Given the description of an element on the screen output the (x, y) to click on. 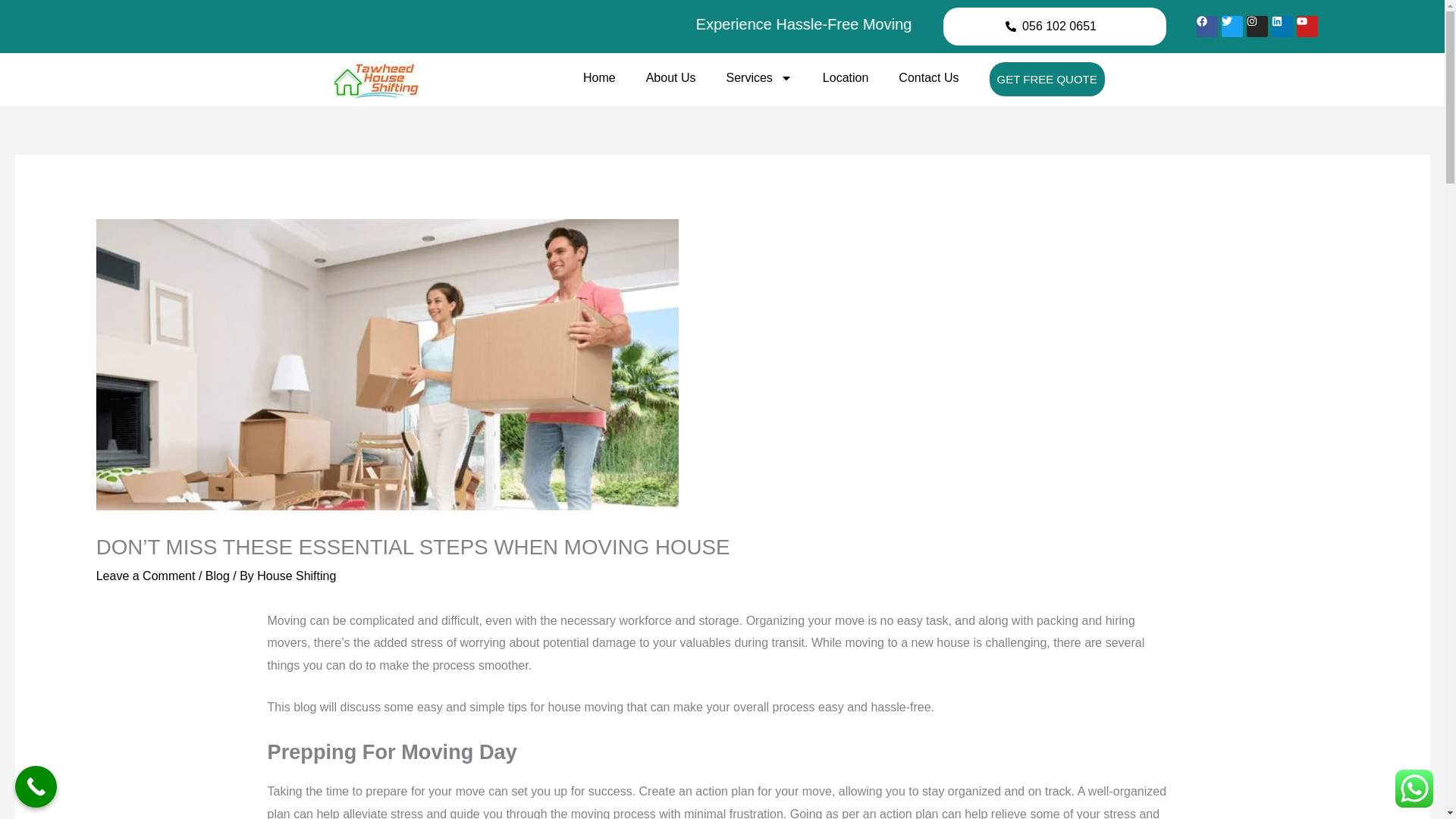
House Shifting (296, 575)
Services (759, 77)
Home (598, 77)
Instagram (1257, 25)
Linkedin (1281, 25)
Twitter (1232, 25)
Blog (217, 575)
Location (845, 77)
Leave a Comment (145, 575)
Facebook (1206, 25)
View all posts by House Shifting (296, 575)
Youtube (1307, 25)
About Us (670, 77)
GET FREE QUOTE (1045, 79)
056 102 0651 (1059, 26)
